Given the description of an element on the screen output the (x, y) to click on. 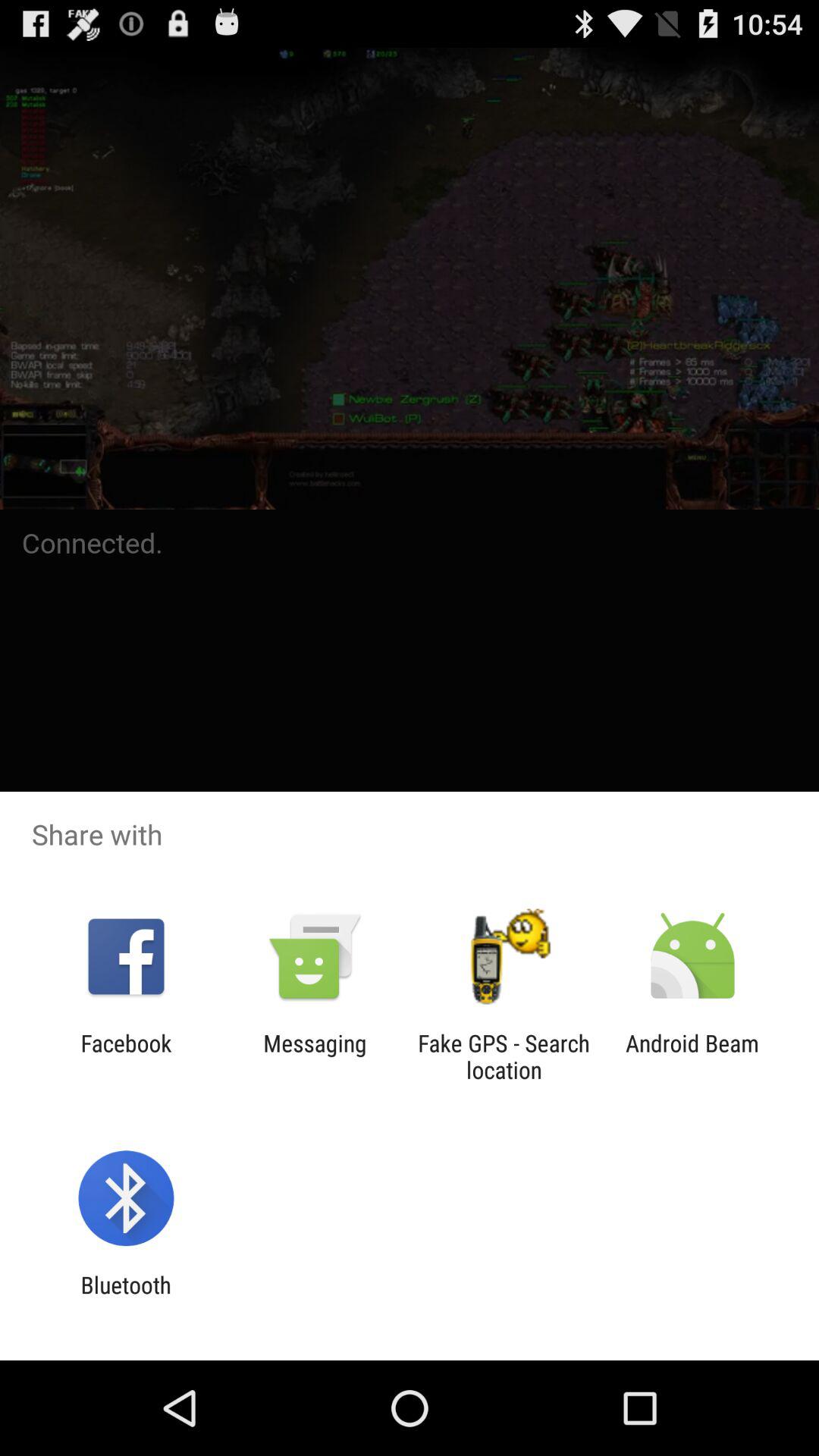
tap the item at the bottom right corner (692, 1056)
